Given the description of an element on the screen output the (x, y) to click on. 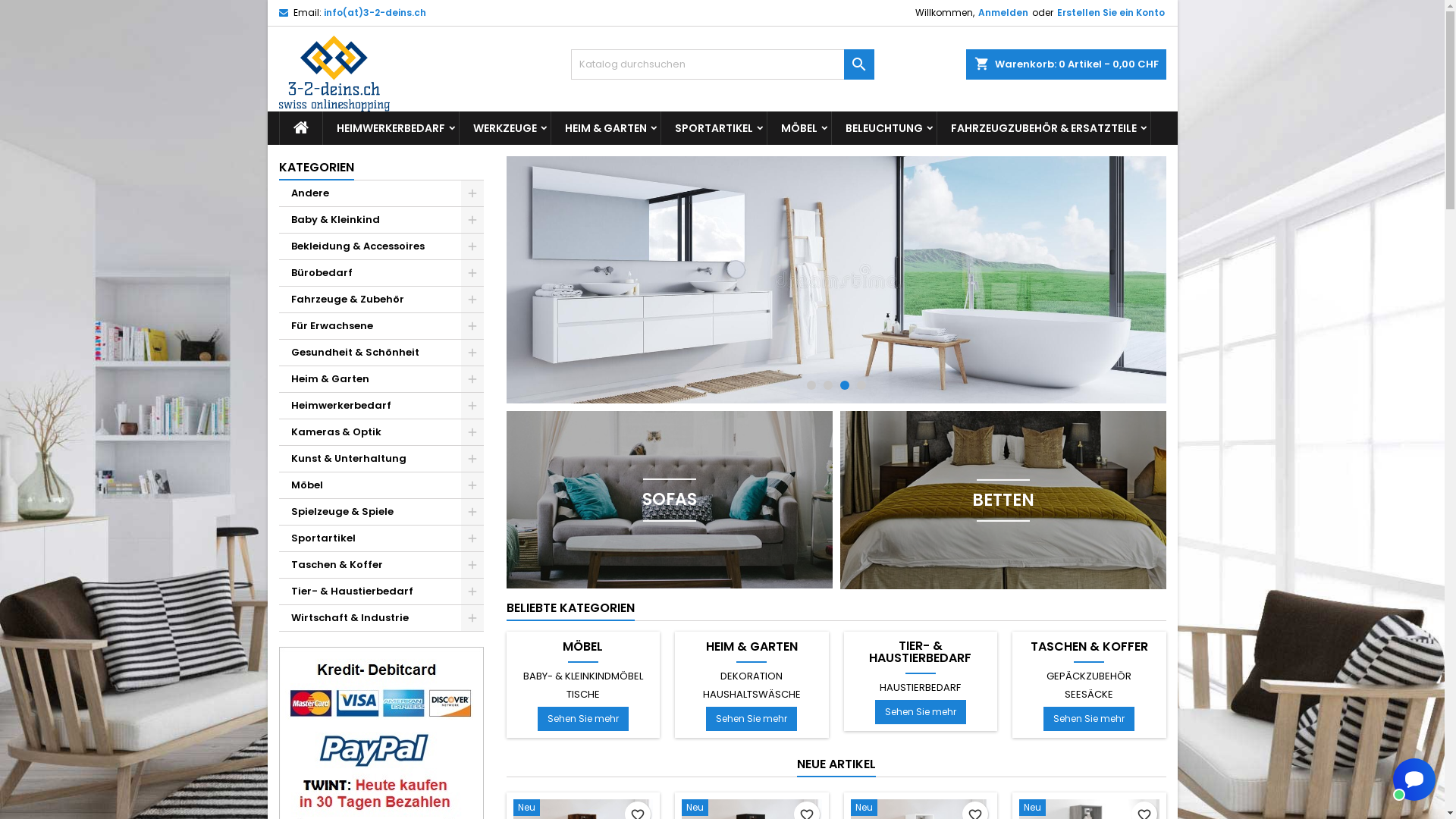
HEIM & GARTEN Element type: text (751, 646)
1 Element type: text (810, 384)
BELEUCHTUNG Element type: text (883, 127)
Sehen Sie mehr Element type: text (920, 711)
Heimwerkerbedarf Element type: text (381, 405)
HAUSTIERBEDARF Element type: text (919, 687)
TISCHE Element type: text (582, 694)
Betten Element type: hover (1003, 500)
SOFAS Element type: text (669, 499)
Sehen Sie mehr Element type: text (751, 718)
KATEGORIEN Element type: text (316, 168)
Baby & Kleinkind Element type: text (381, 220)
Anmelden Element type: text (1002, 12)
HEIM & GARTEN Element type: text (604, 127)
DEKORATION Element type: text (751, 676)
WERKZEUGE Element type: text (504, 127)
Sehen Sie mehr Element type: text (1088, 718)
Sehen Sie mehr Element type: text (582, 718)
Spielzeuge & Spiele Element type: text (381, 511)
3 Element type: text (844, 384)
4 Element type: text (861, 384)
HEIMWERKERBEDARF Element type: text (390, 127)
Erstellen Sie ein Konto Element type: text (1110, 12)
2 Element type: text (827, 384)
NEUE ARTIKEL Element type: text (835, 765)
Tier- & Haustierbedarf Element type: text (381, 591)
BETTEN Element type: text (1003, 499)
info(at)3-2-deins.ch Element type: text (374, 12)
Heim & Garten Element type: text (381, 379)
TIER- & HAUSTIERBEDARF Element type: text (920, 652)
Smartsupp widget button Element type: hover (1414, 779)
Wirtschaft & Industrie Element type: text (381, 618)
Kunst & Unterhaltung Element type: text (381, 458)
Sportartikel Element type: text (381, 538)
Kameras & Optik Element type: text (381, 432)
Sofas Element type: hover (669, 499)
Taschen & Koffer Element type: text (381, 565)
Bekleidung & Accessoires Element type: text (381, 246)
shopping_cart
Warenkorb: 0 Artikel - 0,00 CHF Element type: text (1066, 64)
Andere Element type: text (381, 193)
SPORTARTIKEL Element type: text (713, 127)
TASCHEN & KOFFER Element type: text (1089, 646)
